Given the description of an element on the screen output the (x, y) to click on. 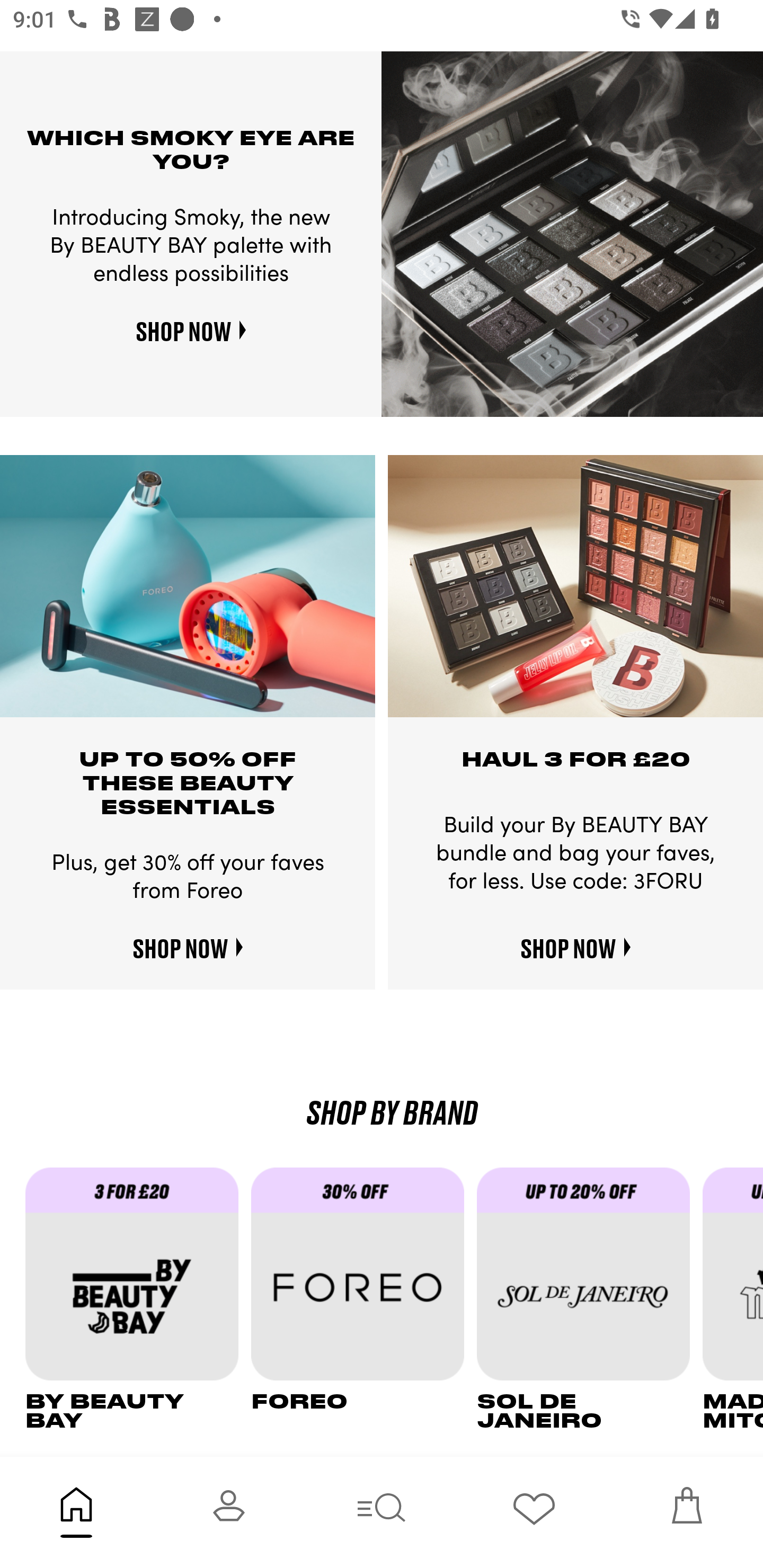
BY BEAUTY BAY (138, 1299)
FOREO (363, 1299)
SOL DE JANEIRO (589, 1299)
